Given the description of an element on the screen output the (x, y) to click on. 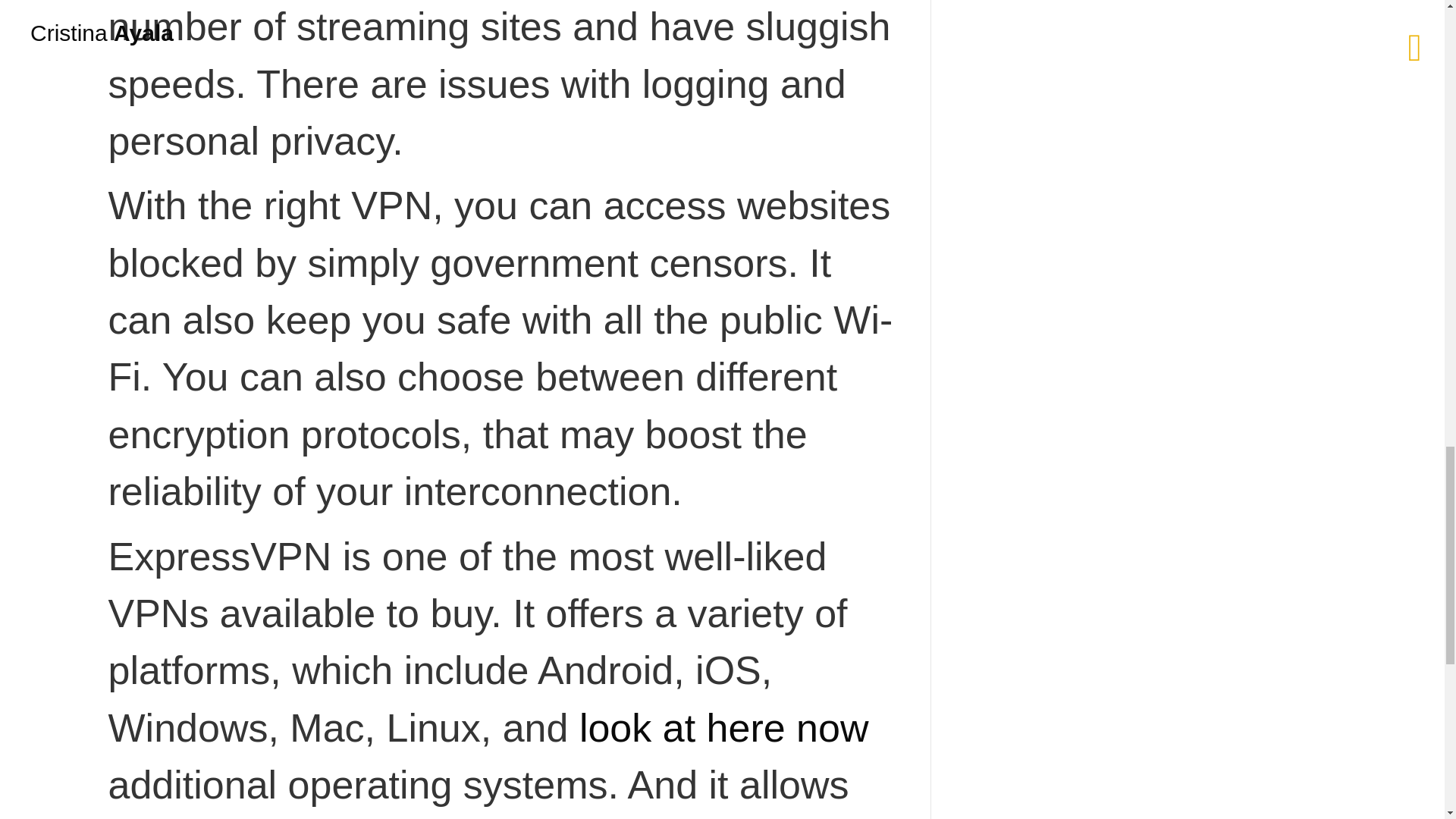
look at here now (724, 727)
